Given the description of an element on the screen output the (x, y) to click on. 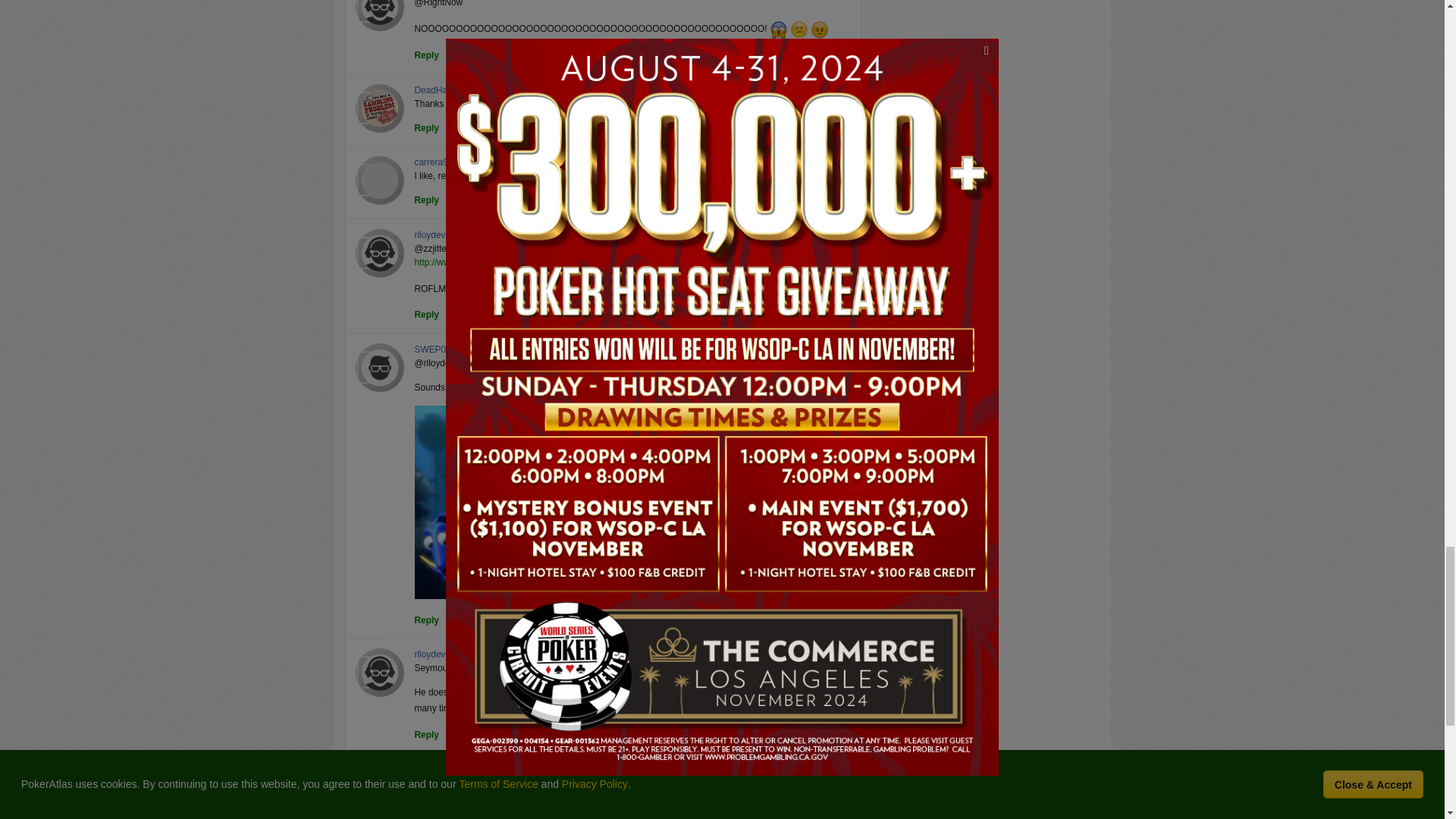
:confused: (799, 29)
Mar 3, 2010 (493, 235)
:scream: (778, 29)
Mar 2, 2010 (515, 90)
:angry: (819, 29)
Mar 2, 2010 (491, 162)
